Given the description of an element on the screen output the (x, y) to click on. 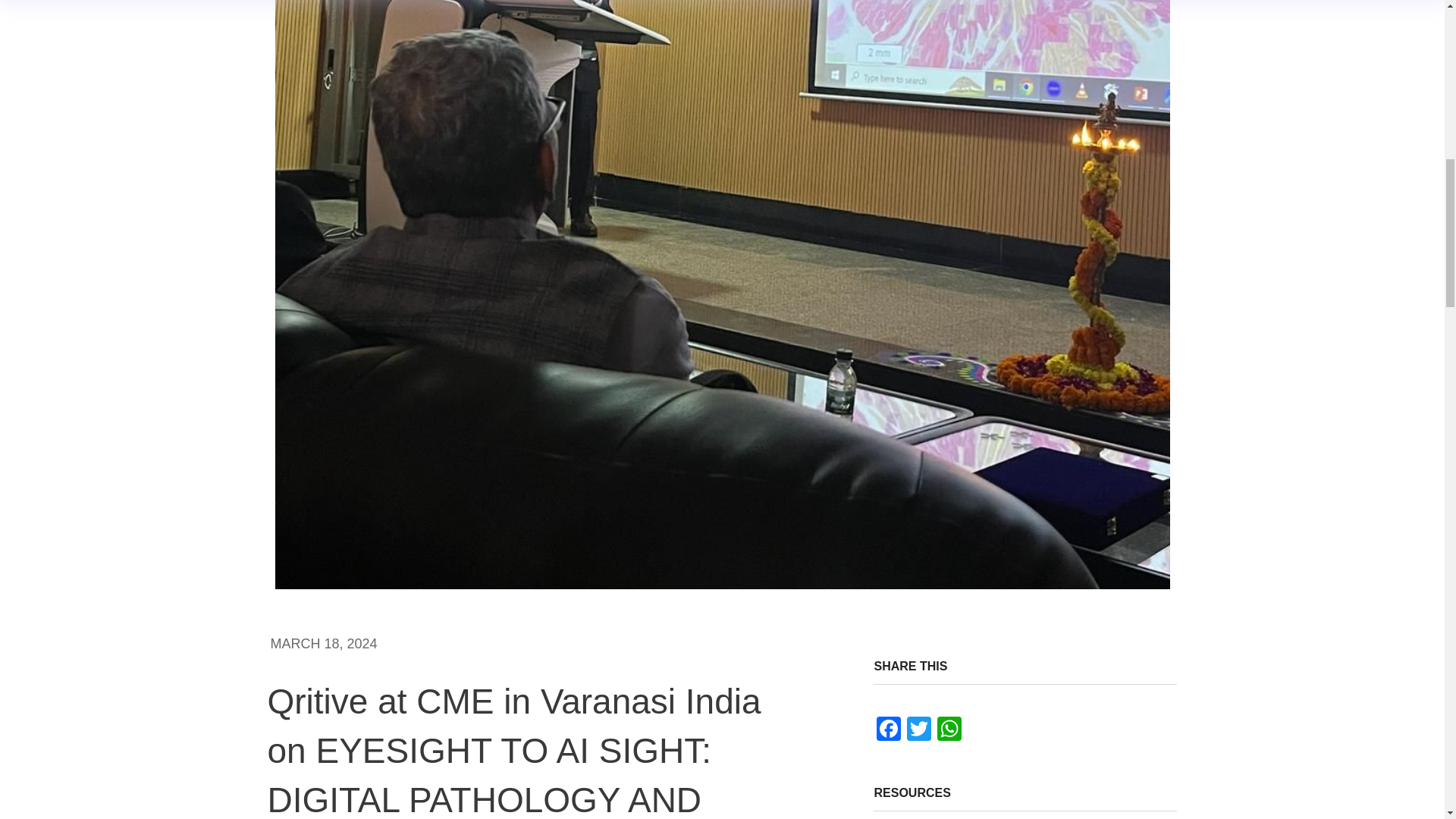
Twitter (919, 730)
Facebook (888, 730)
WhatsApp (948, 730)
